Given the description of an element on the screen output the (x, y) to click on. 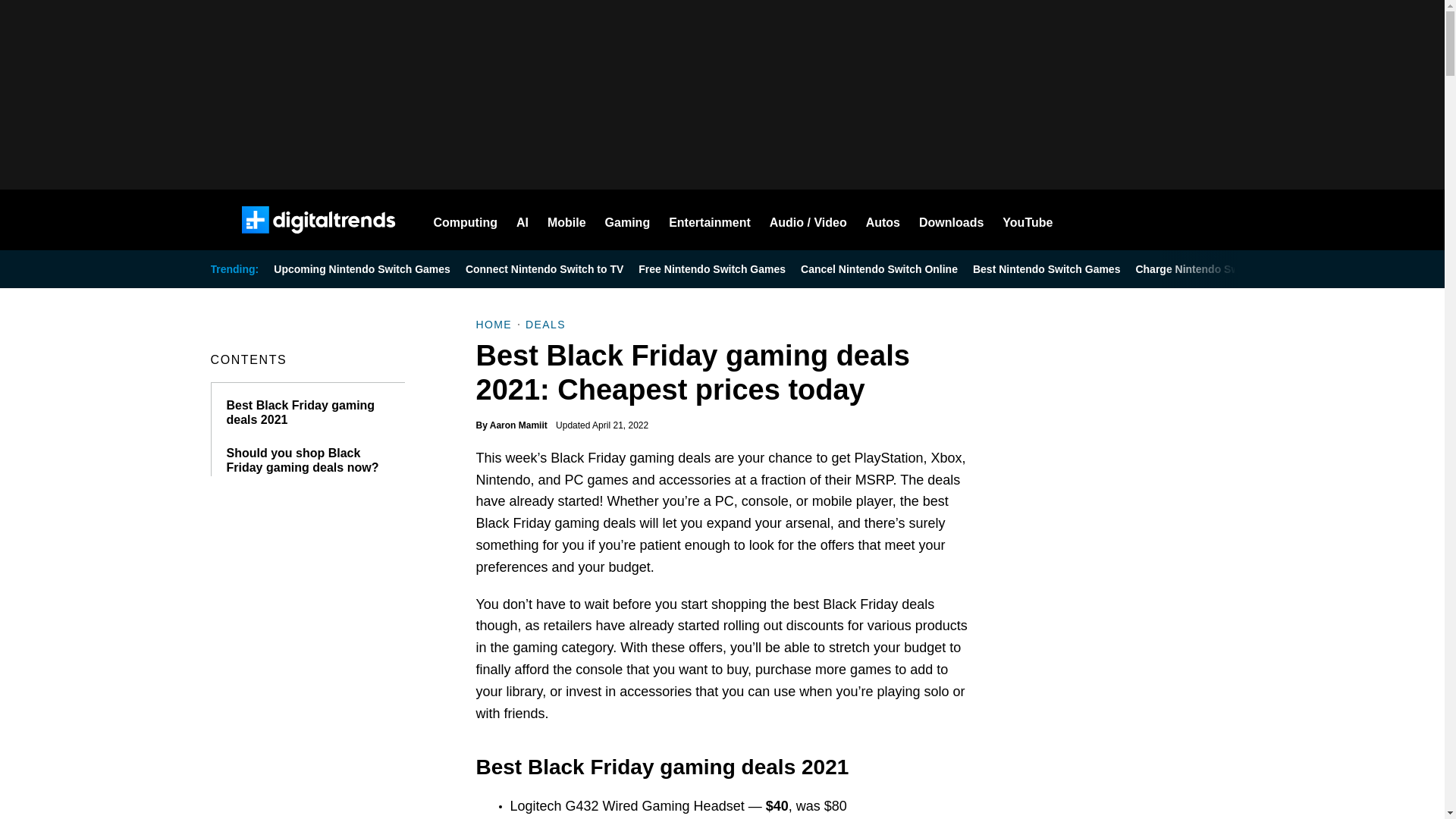
Entertainment (709, 219)
Downloads (951, 219)
Computing (465, 219)
